Given the description of an element on the screen output the (x, y) to click on. 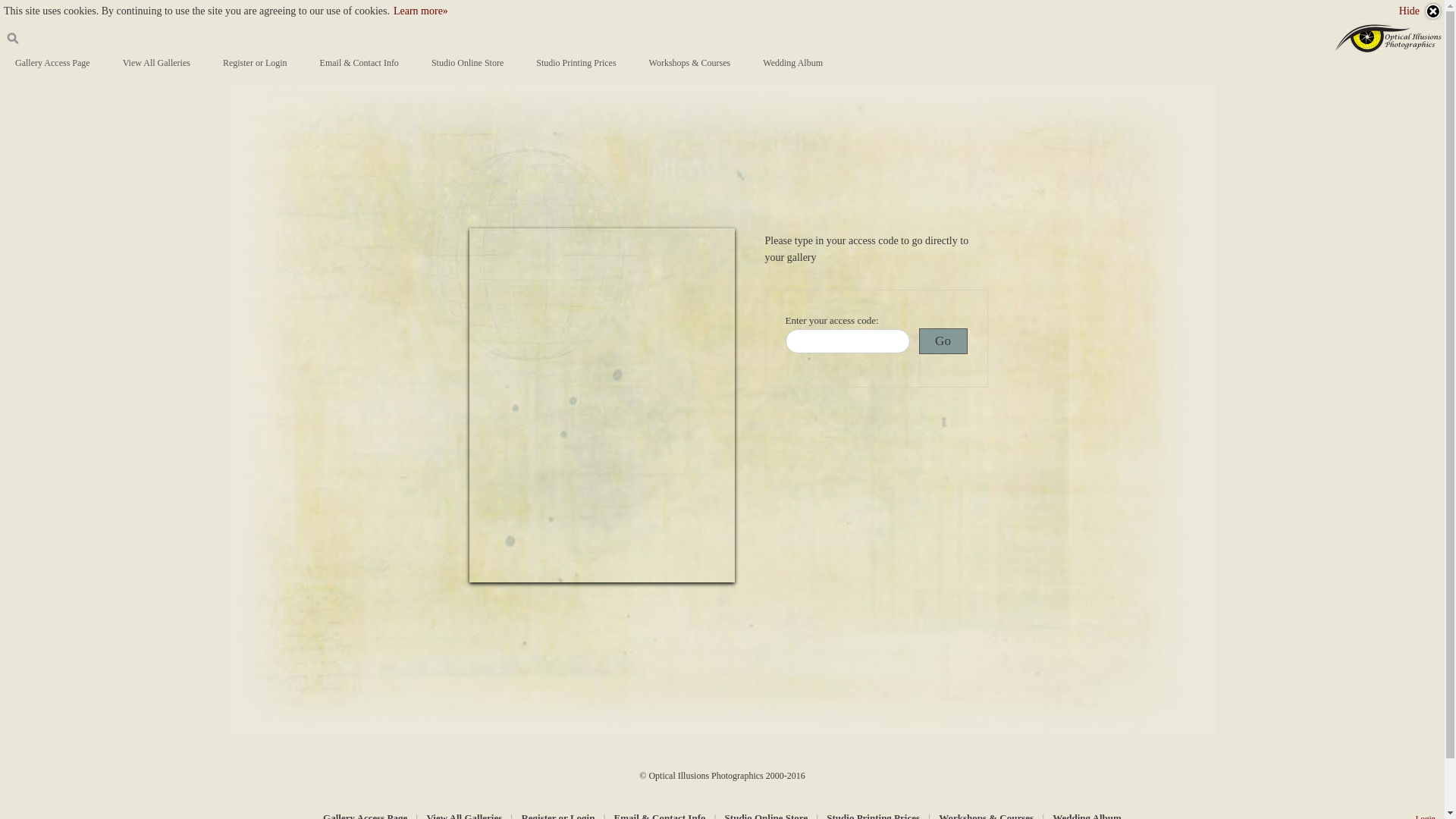
Email & Contact Info Element type: text (359, 62)
Workshops & Courses Element type: text (689, 62)
Optical Illusions Photographics Element type: hover (1388, 38)
View All Galleries Element type: text (156, 62)
Studio Online Store Element type: text (467, 62)
Hide Element type: text (1420, 11)
Register or Login Element type: text (254, 62)
Wedding Album Element type: text (792, 62)
Studio Printing Prices Element type: text (575, 62)
Gallery Access Page Element type: text (52, 62)
